Given the description of an element on the screen output the (x, y) to click on. 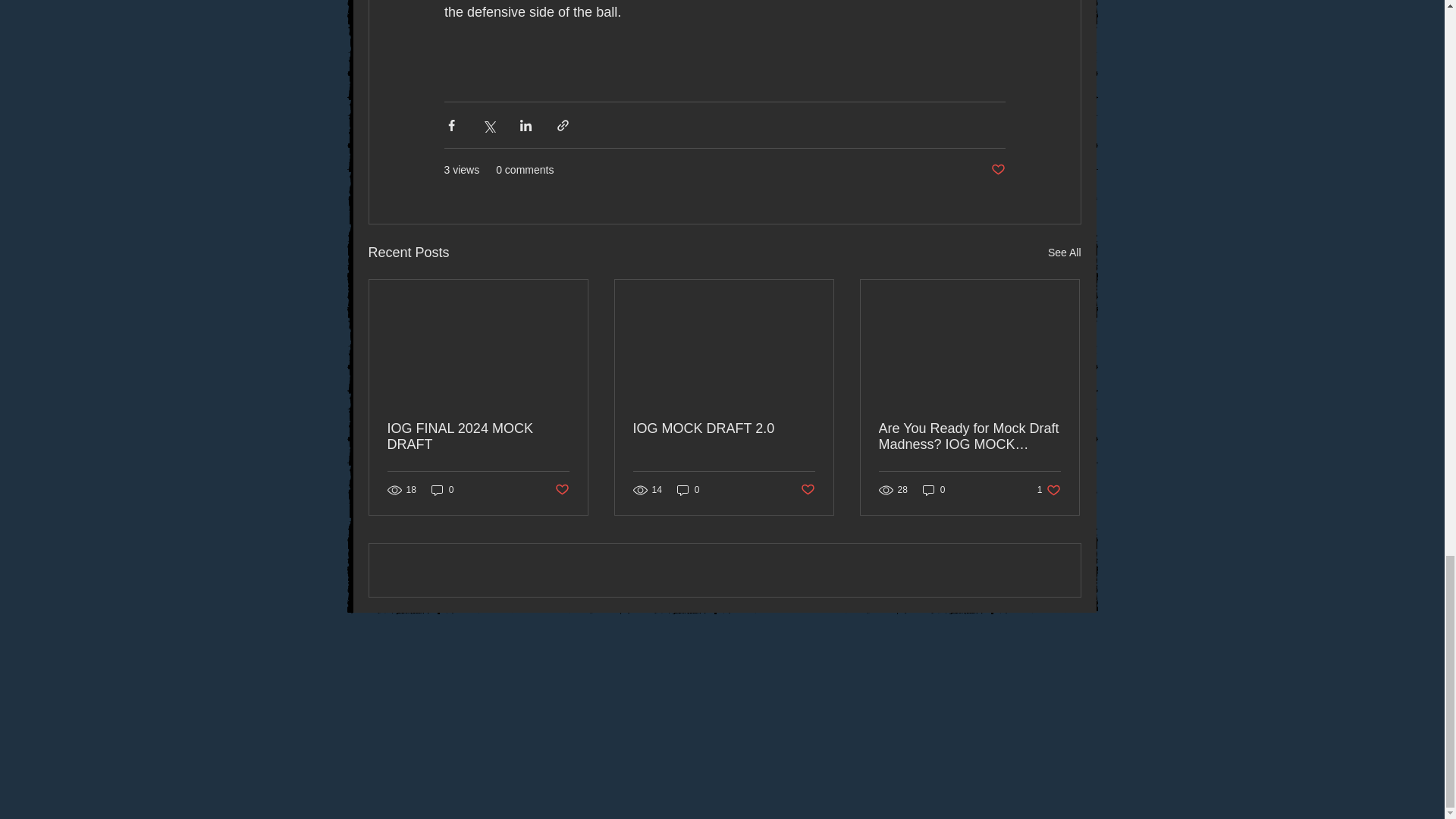
IOG MOCK DRAFT 2.0 (722, 428)
0 (442, 490)
See All (1064, 252)
Post not marked as liked (561, 489)
Are You Ready for Mock Draft Madness? IOG MOCK DRAFT 1.0 (968, 436)
IOG FINAL 2024 MOCK DRAFT (478, 436)
Post not marked as liked (807, 489)
0 (688, 490)
Post not marked as liked (997, 170)
